Given the description of an element on the screen output the (x, y) to click on. 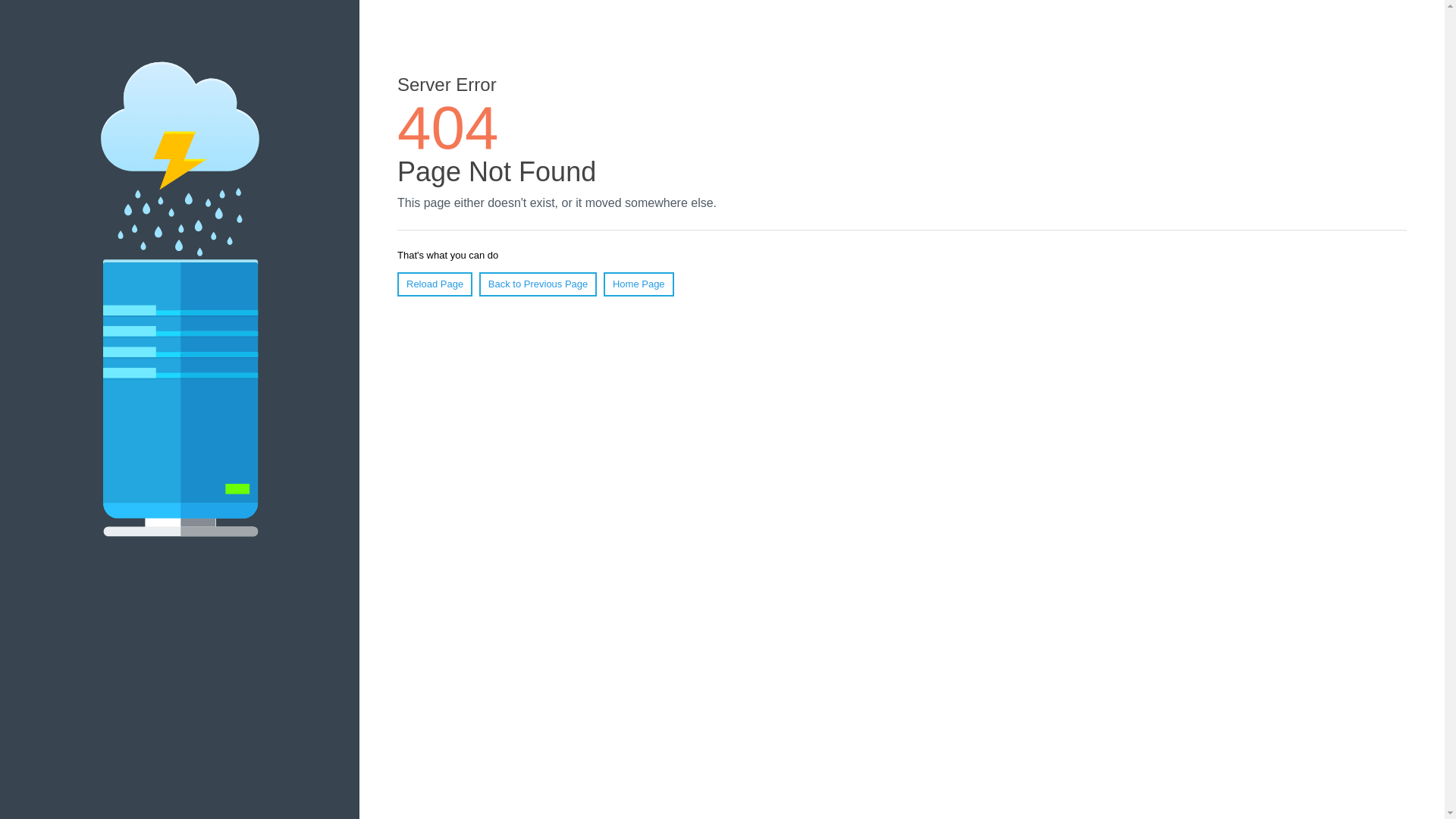
Reload Page Element type: text (434, 284)
Back to Previous Page Element type: text (538, 284)
Home Page Element type: text (638, 284)
